Given the description of an element on the screen output the (x, y) to click on. 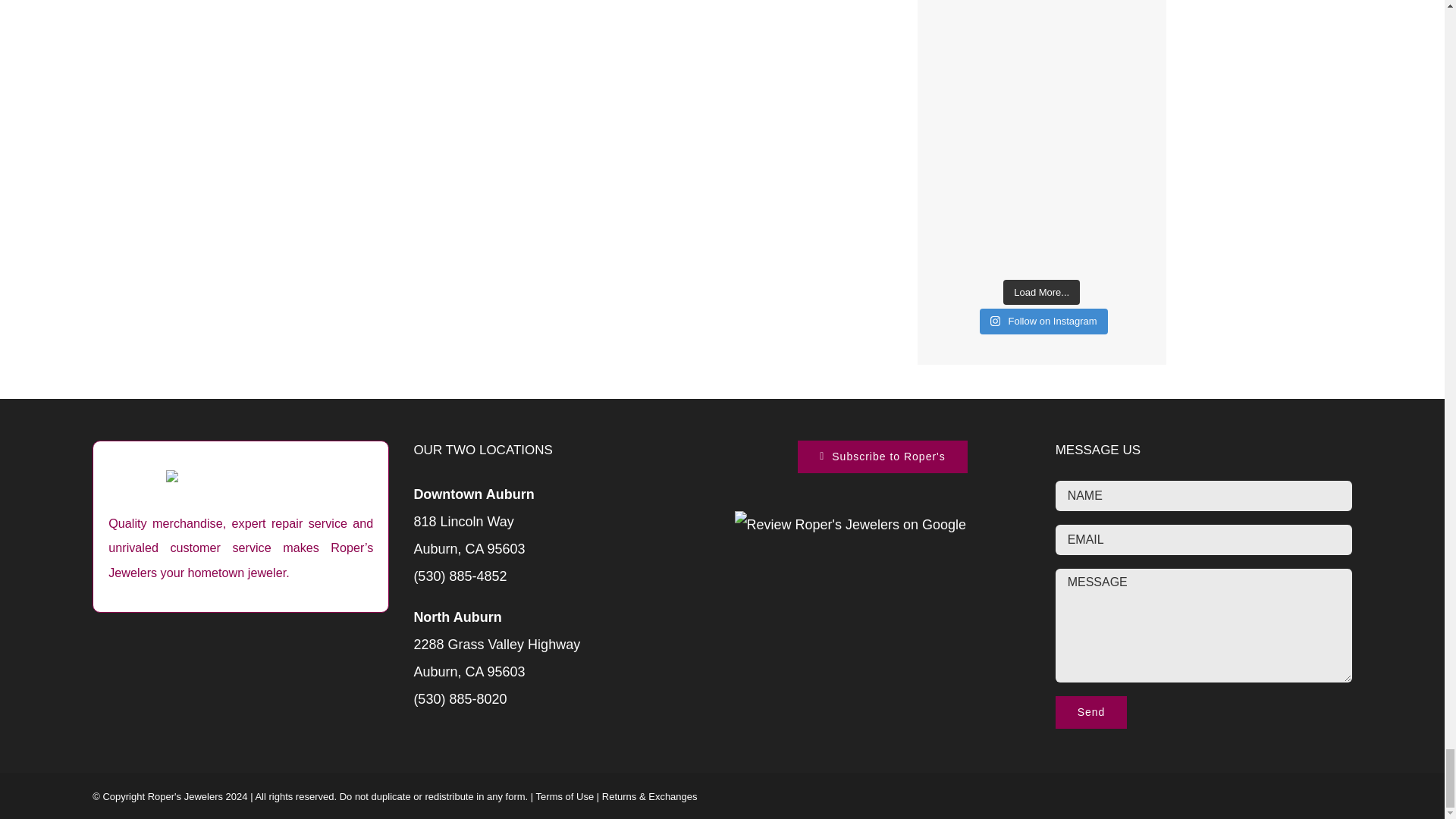
Subscribe to Roper's Blog (881, 456)
Send (1090, 712)
Review Roper's Jewelers on Google (849, 524)
